Given the description of an element on the screen output the (x, y) to click on. 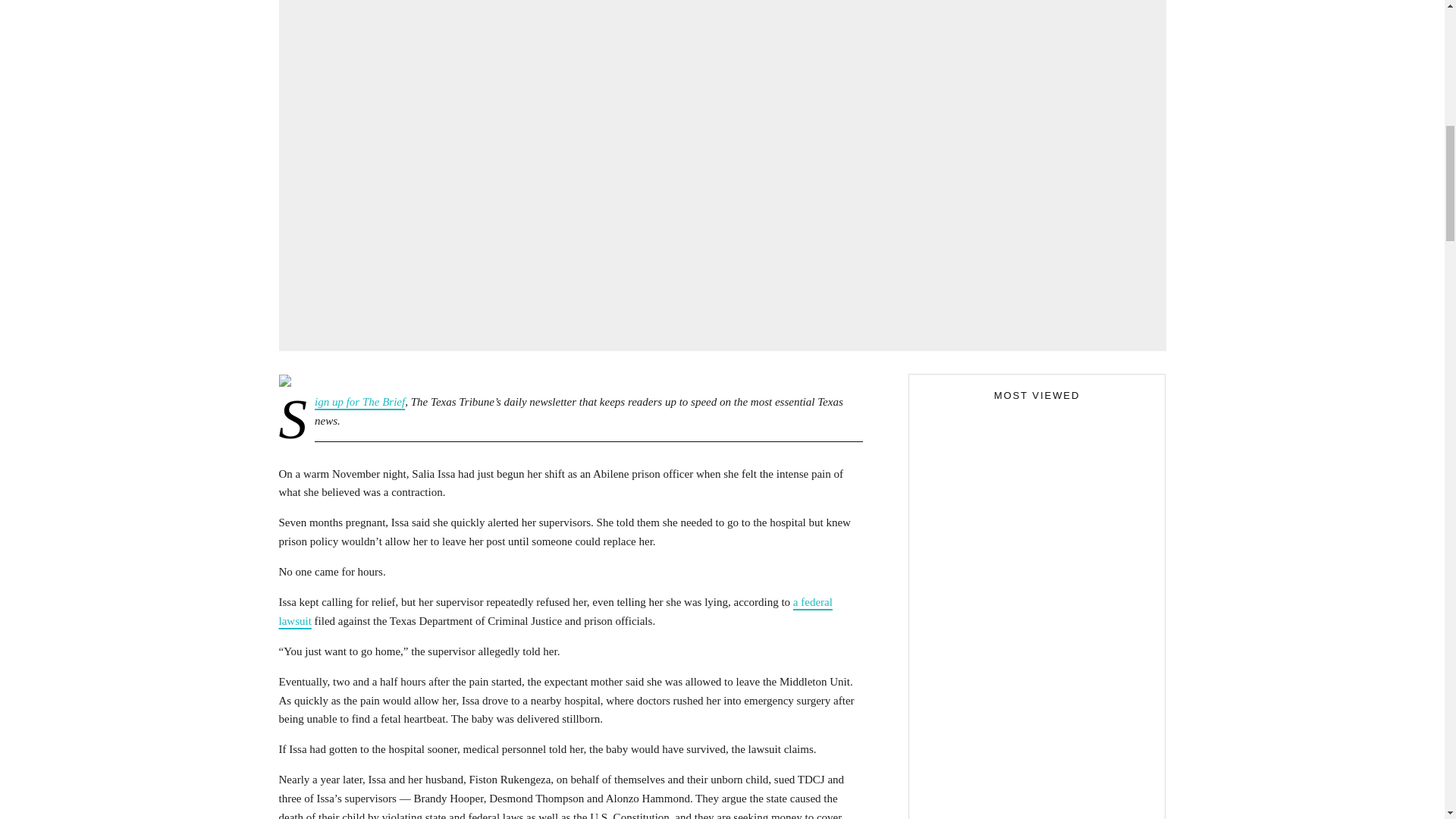
Sign up for The Brief (359, 401)
a federal lawsuit (555, 611)
